Given the description of an element on the screen output the (x, y) to click on. 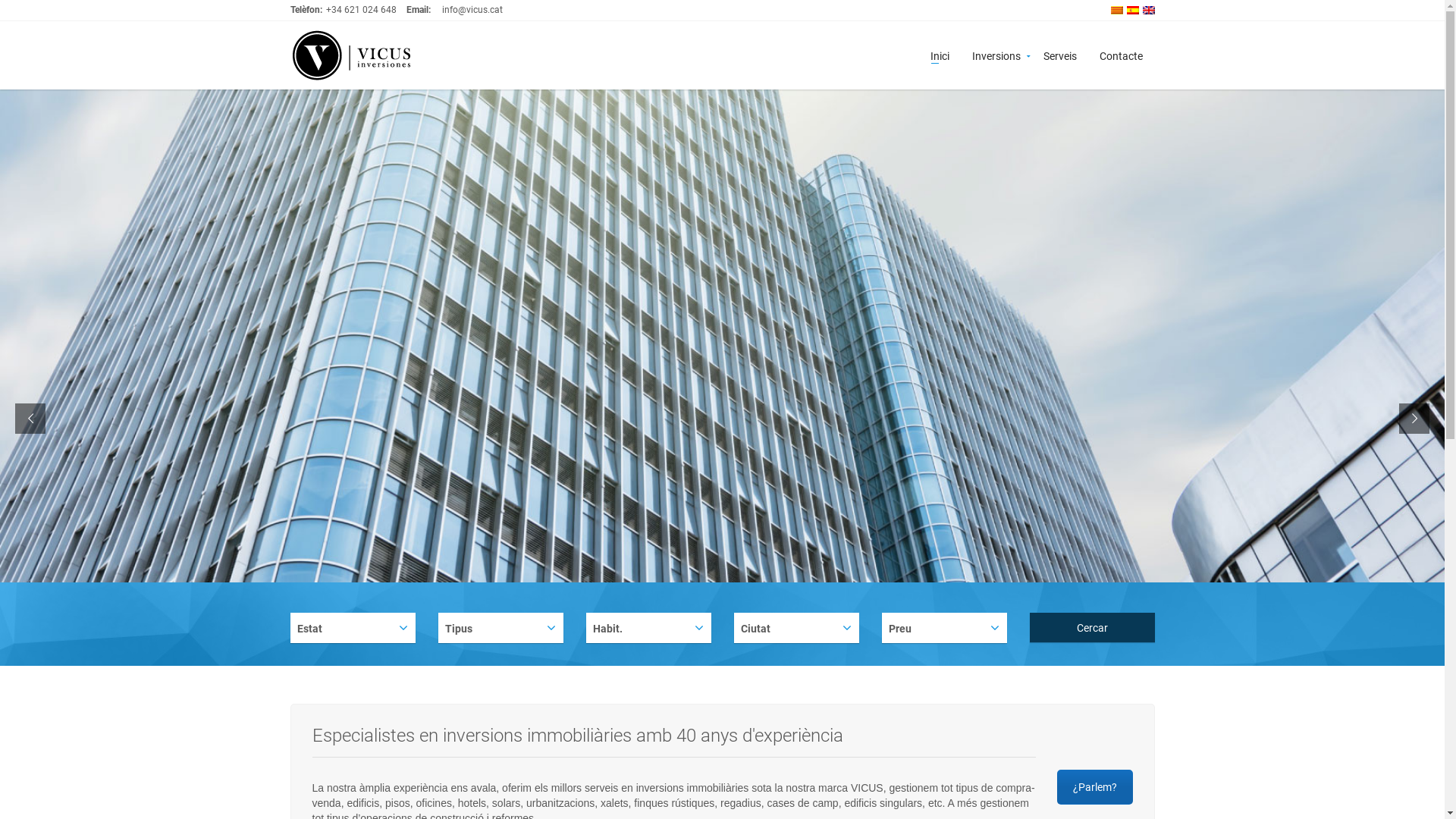
Inversions Element type: text (996, 54)
Cercar Element type: text (1091, 627)
Tipus
  Element type: text (500, 627)
Vicus - Inversiones inmobiliarias en Barcelona Element type: hover (350, 54)
Serveis Element type: text (1060, 54)
info@vicus.cat Element type: text (471, 9)
Ciutat
  Element type: text (796, 627)
Contacte Element type: text (1121, 54)
Estat
  Element type: text (351, 627)
Inici Element type: text (939, 54)
Habit.
  Element type: text (647, 627)
Preu
  Element type: text (943, 627)
